Given the description of an element on the screen output the (x, y) to click on. 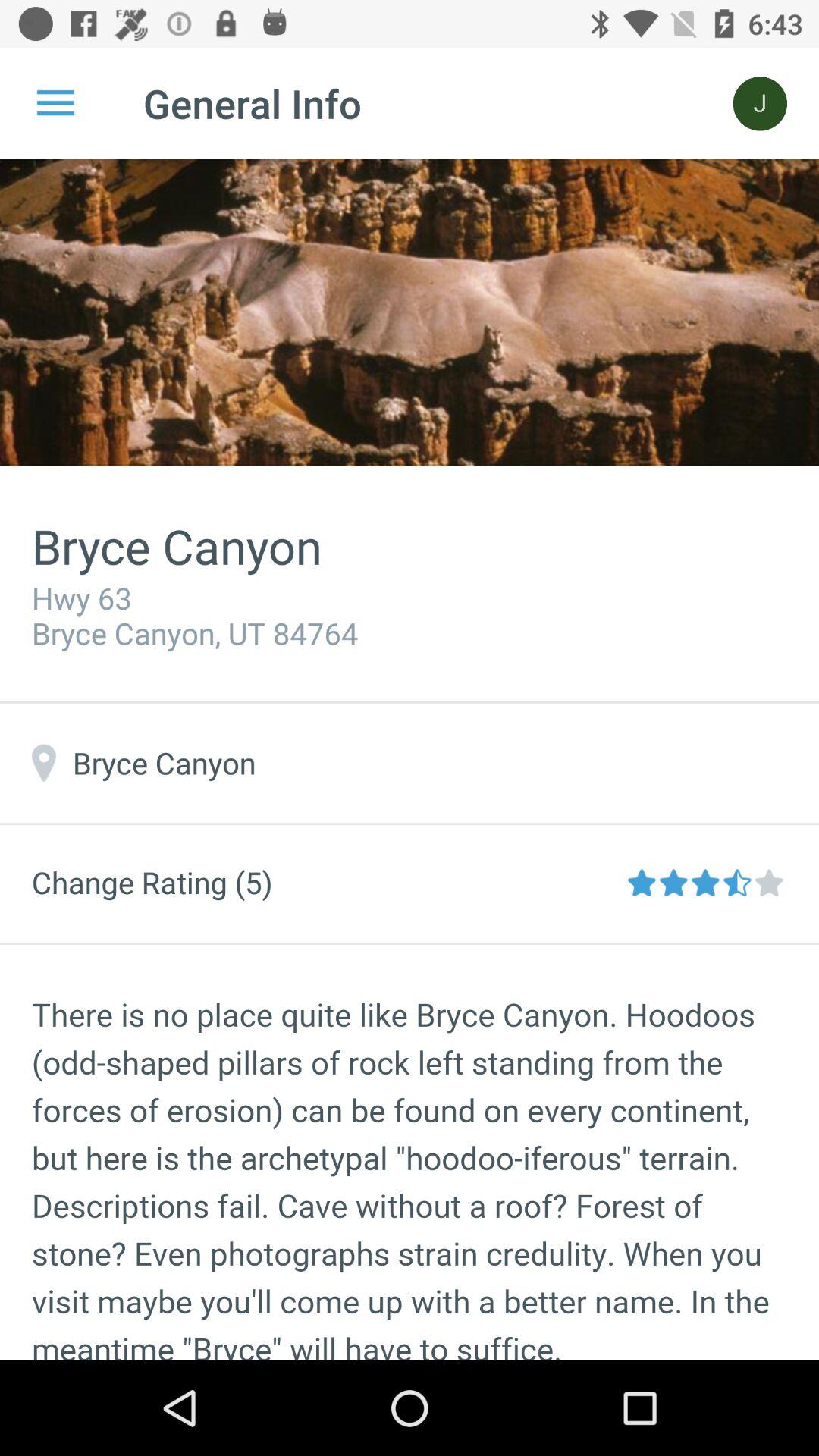
click item to the right of the general info icon (760, 103)
